Given the description of an element on the screen output the (x, y) to click on. 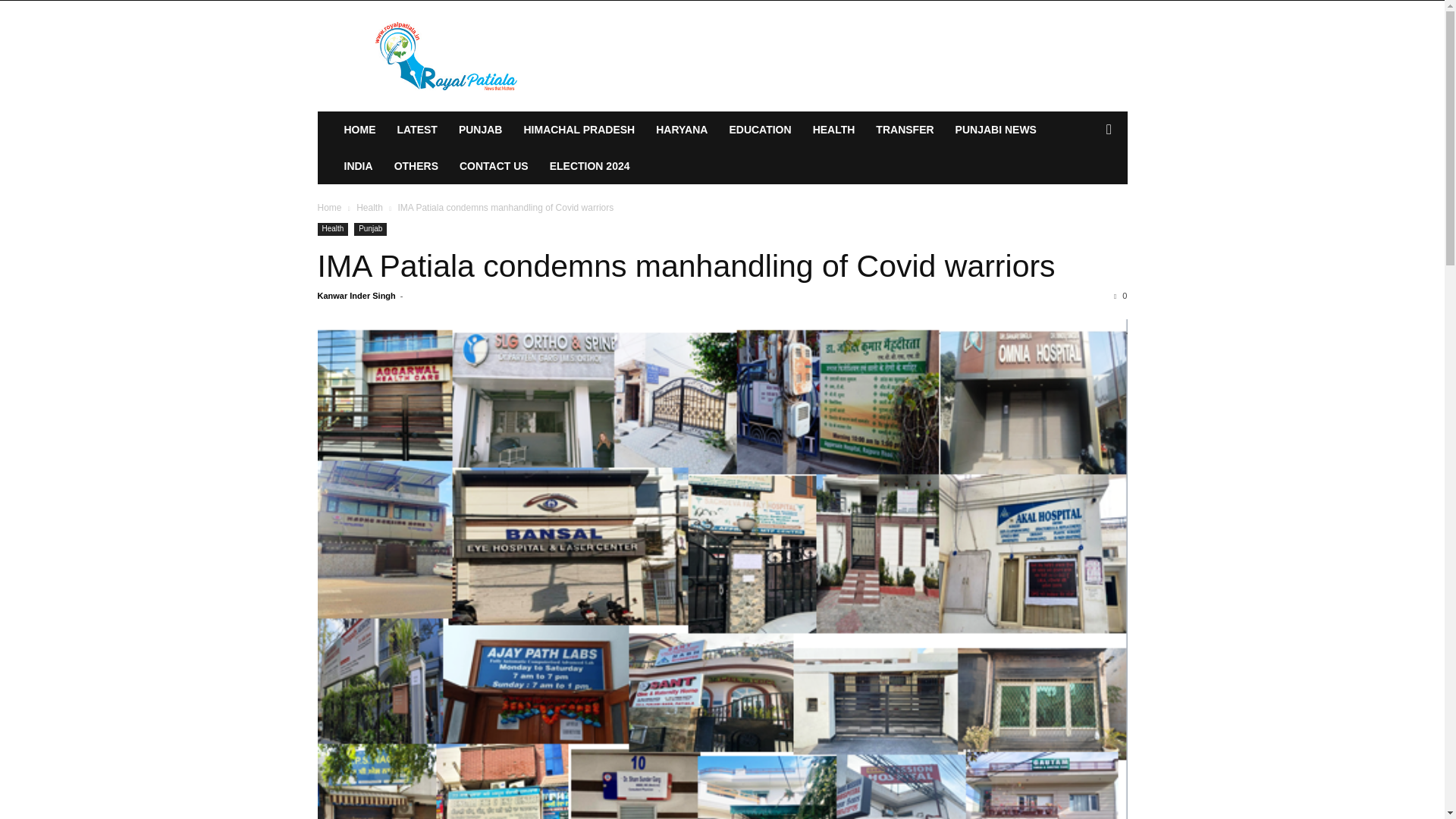
EDUCATION (759, 129)
HOME (360, 129)
OTHERS (416, 166)
IMA Patiala condemns manhandling of Covid warriors (685, 265)
View all posts in Health (369, 207)
INDIA (358, 166)
Home (328, 207)
PUNJABI NEWS (995, 129)
Search (1085, 190)
ELECTION 2024 (589, 166)
HIMACHAL PRADESH (578, 129)
PUNJAB (480, 129)
HEALTH (834, 129)
CONTACT US (493, 166)
